Given the description of an element on the screen output the (x, y) to click on. 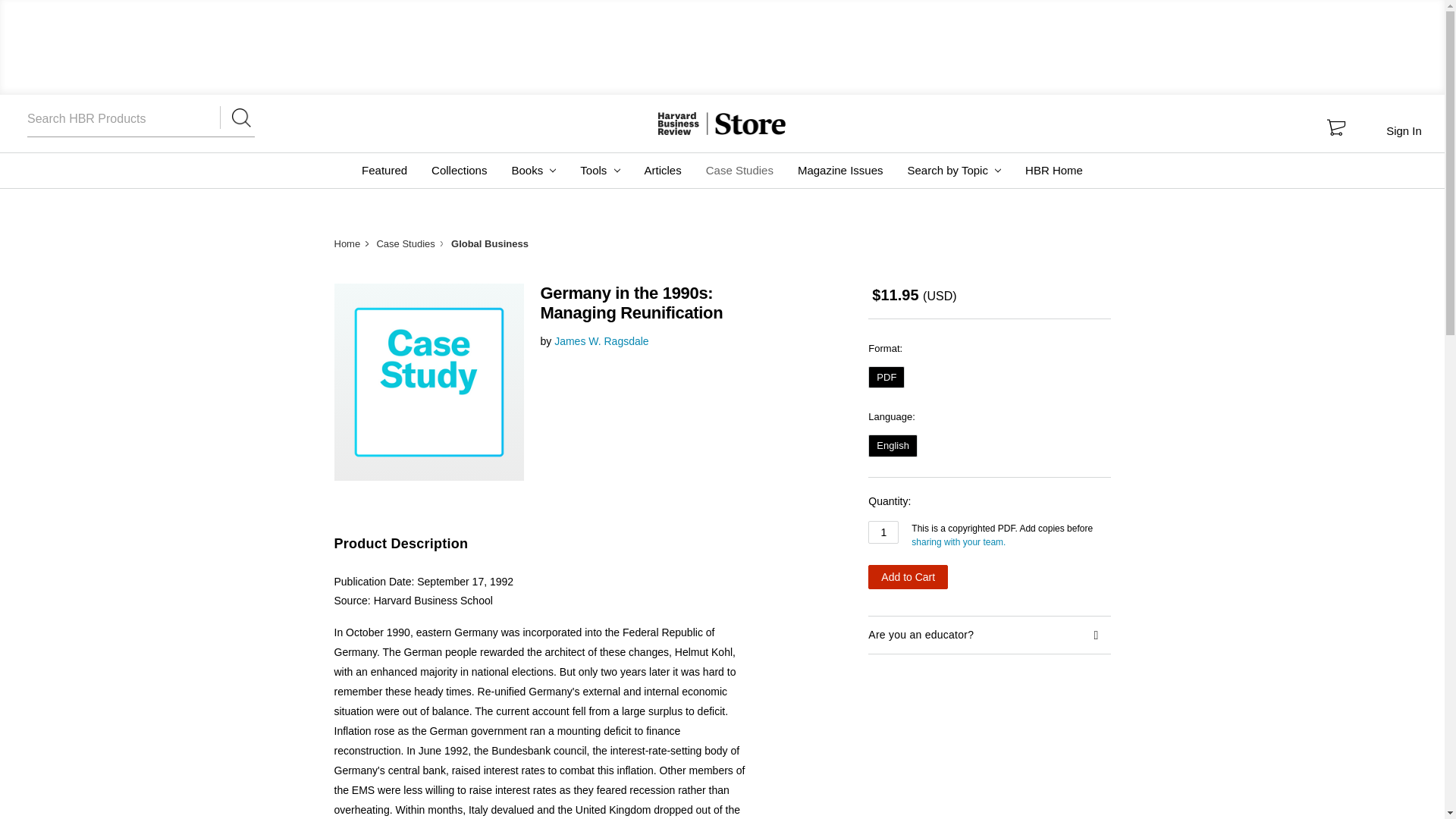
Sign In (1403, 130)
Books (533, 170)
Collections (459, 170)
Articles (662, 170)
3rd party ad content (722, 46)
Case Studies (740, 170)
